Given the description of an element on the screen output the (x, y) to click on. 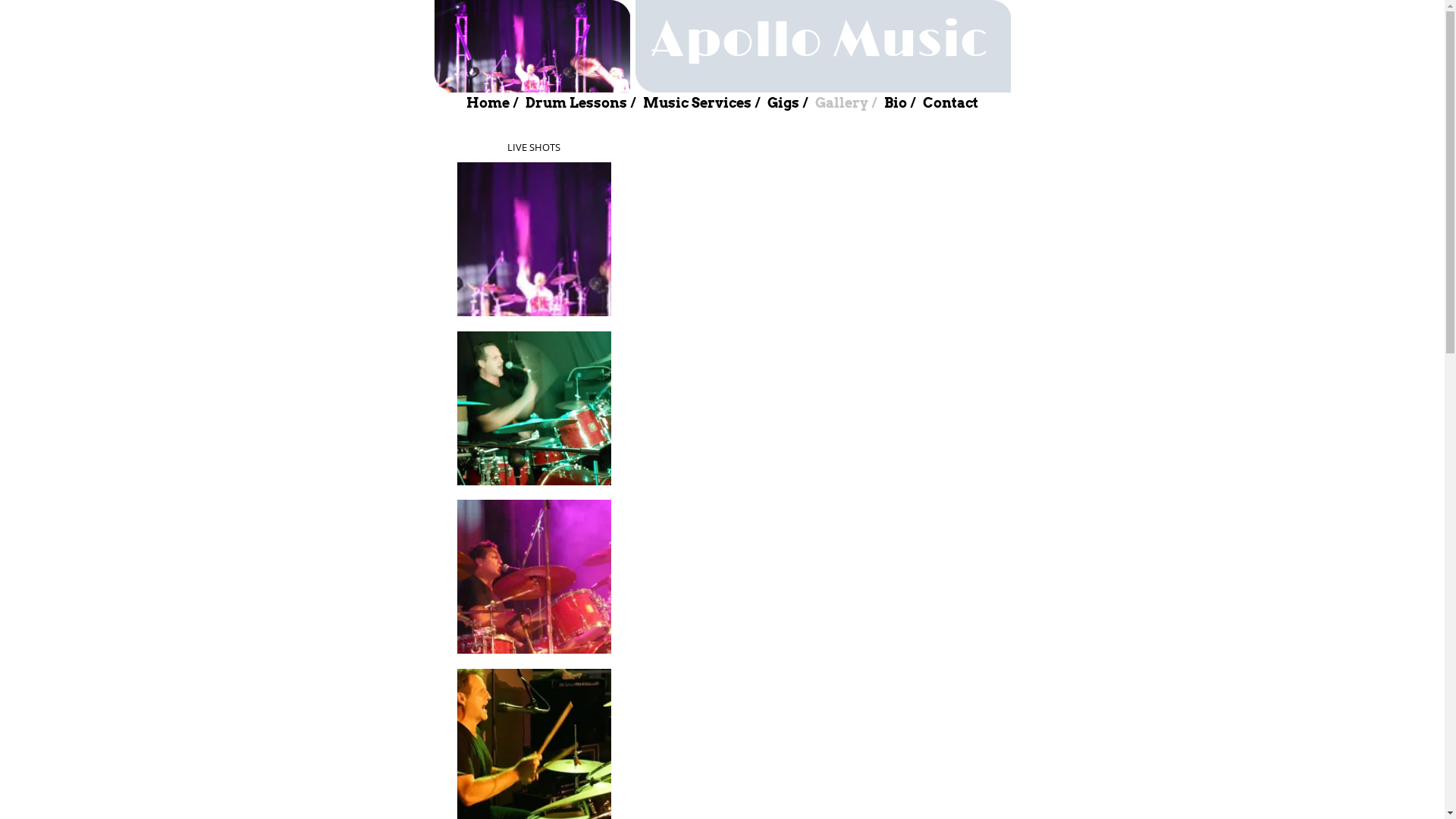
Drum Lessons / Element type: text (580, 102)
Music Services / Element type: text (701, 102)
Gallery / Element type: text (845, 102)
Bio / Element type: text (899, 102)
Gigs / Element type: text (787, 102)
Apollo Music Element type: text (818, 48)
Home / Element type: text (491, 102)
Contact Element type: text (950, 102)
